Given the description of an element on the screen output the (x, y) to click on. 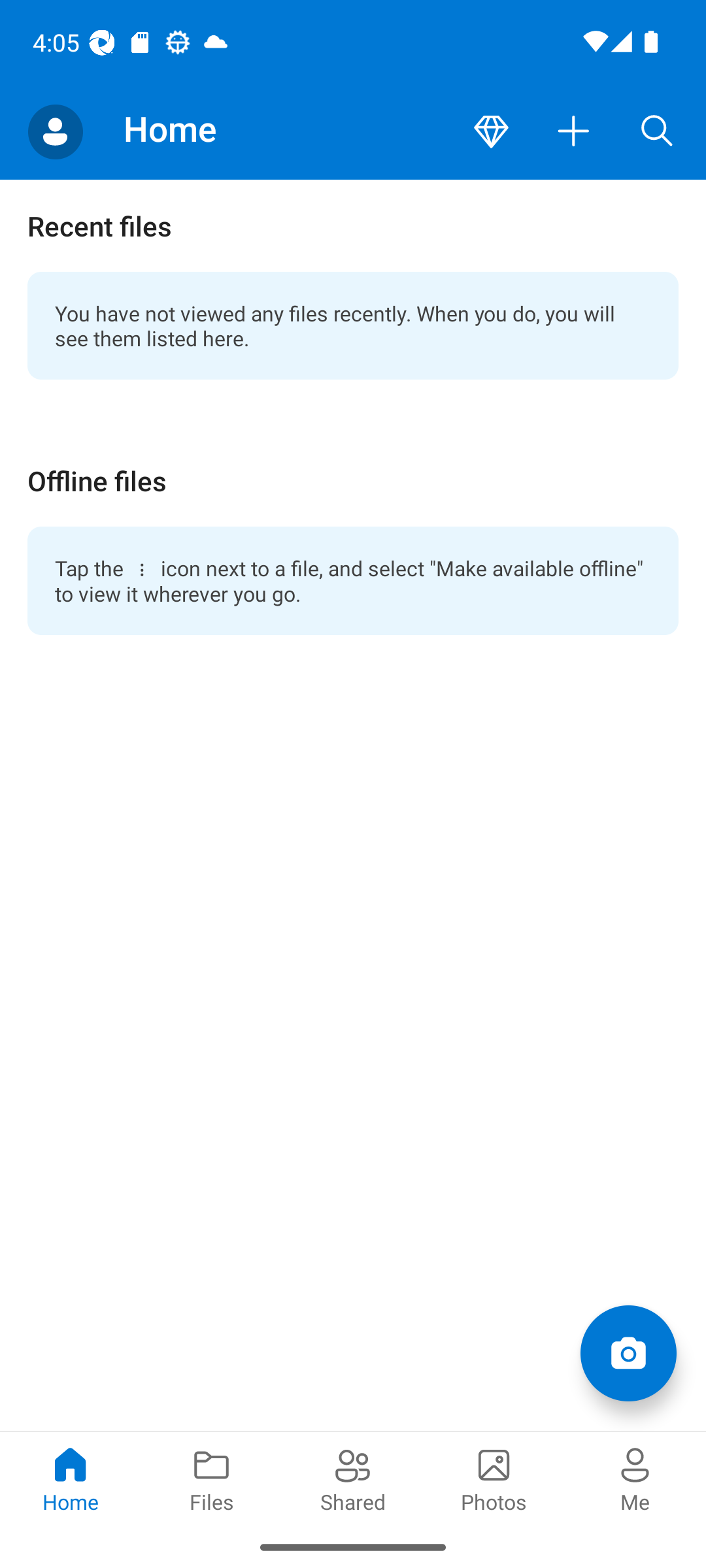
Account switcher (55, 131)
Premium button (491, 131)
More actions button (574, 131)
Search button (656, 131)
Scan (628, 1352)
Files pivot Files (211, 1478)
Shared pivot Shared (352, 1478)
Photos pivot Photos (493, 1478)
Me pivot Me (635, 1478)
